Given the description of an element on the screen output the (x, y) to click on. 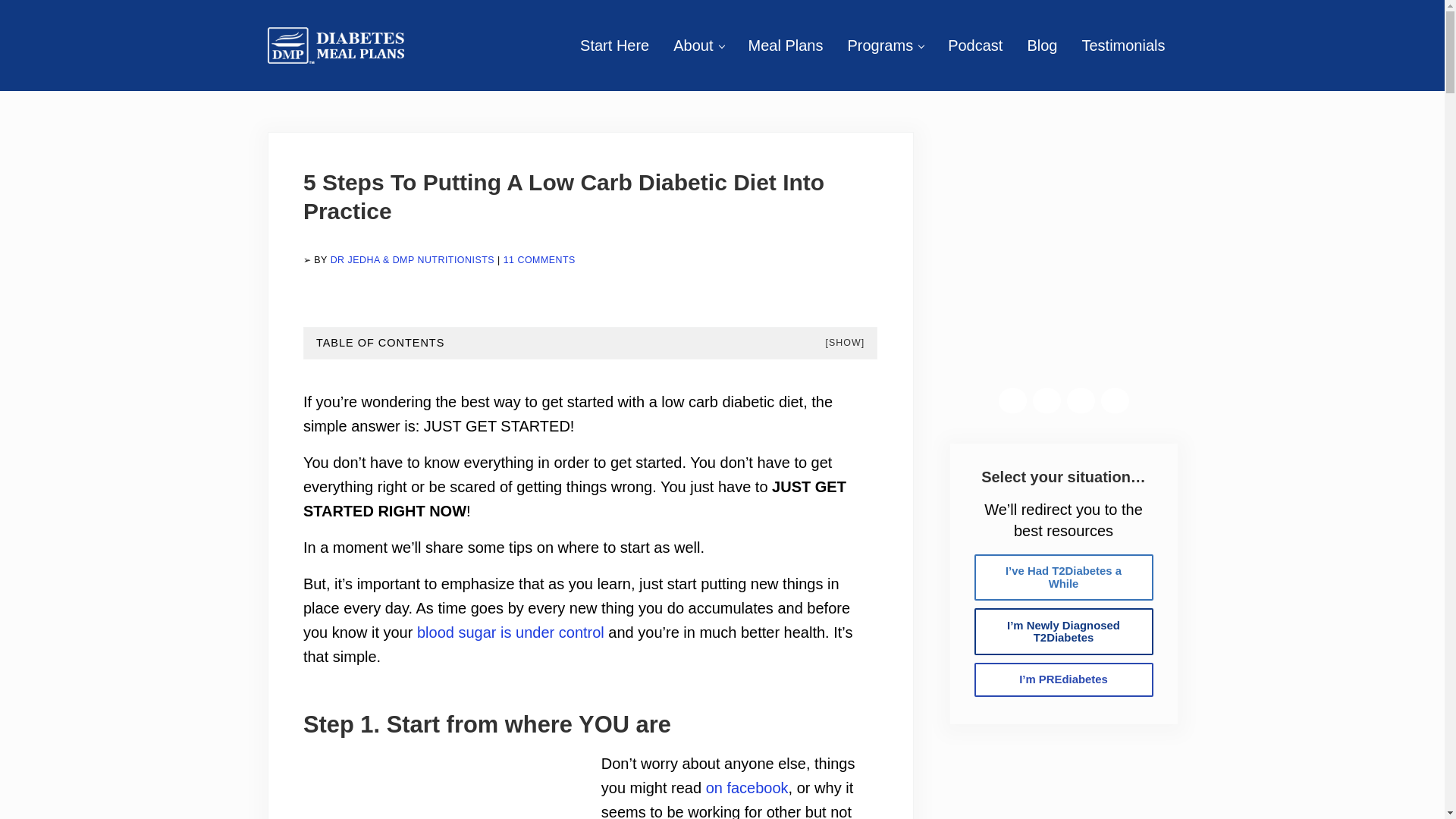
Podcast (975, 45)
Testimonials (1122, 45)
on facebook (747, 787)
Programs (885, 45)
Meal Plans (785, 45)
11 COMMENTS (539, 259)
Start Here (614, 45)
